Given the description of an element on the screen output the (x, y) to click on. 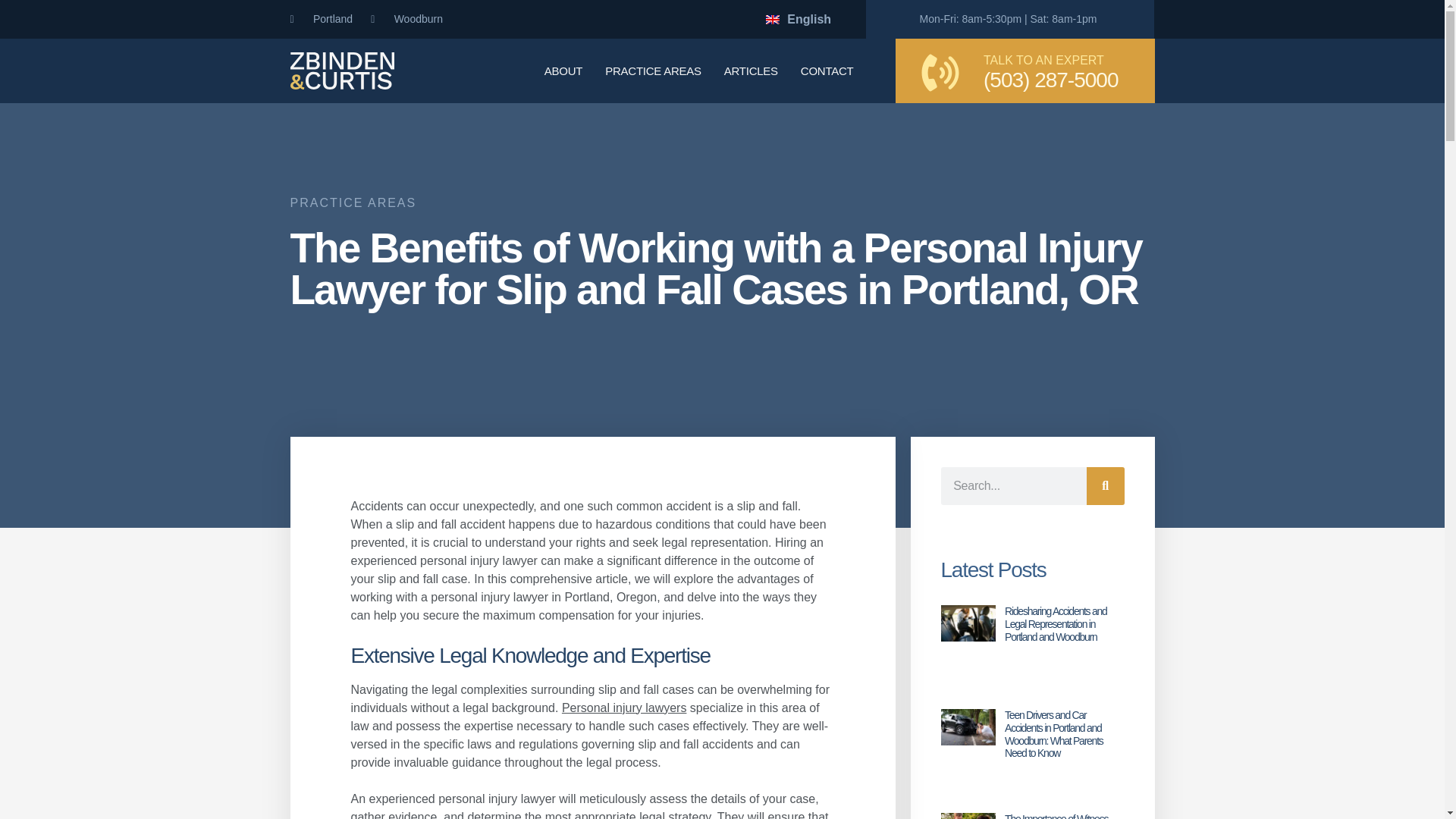
PRACTICE AREAS (653, 71)
Woodburn (406, 19)
English (798, 18)
English (798, 18)
ABOUT (563, 71)
Portland (320, 19)
